Given the description of an element on the screen output the (x, y) to click on. 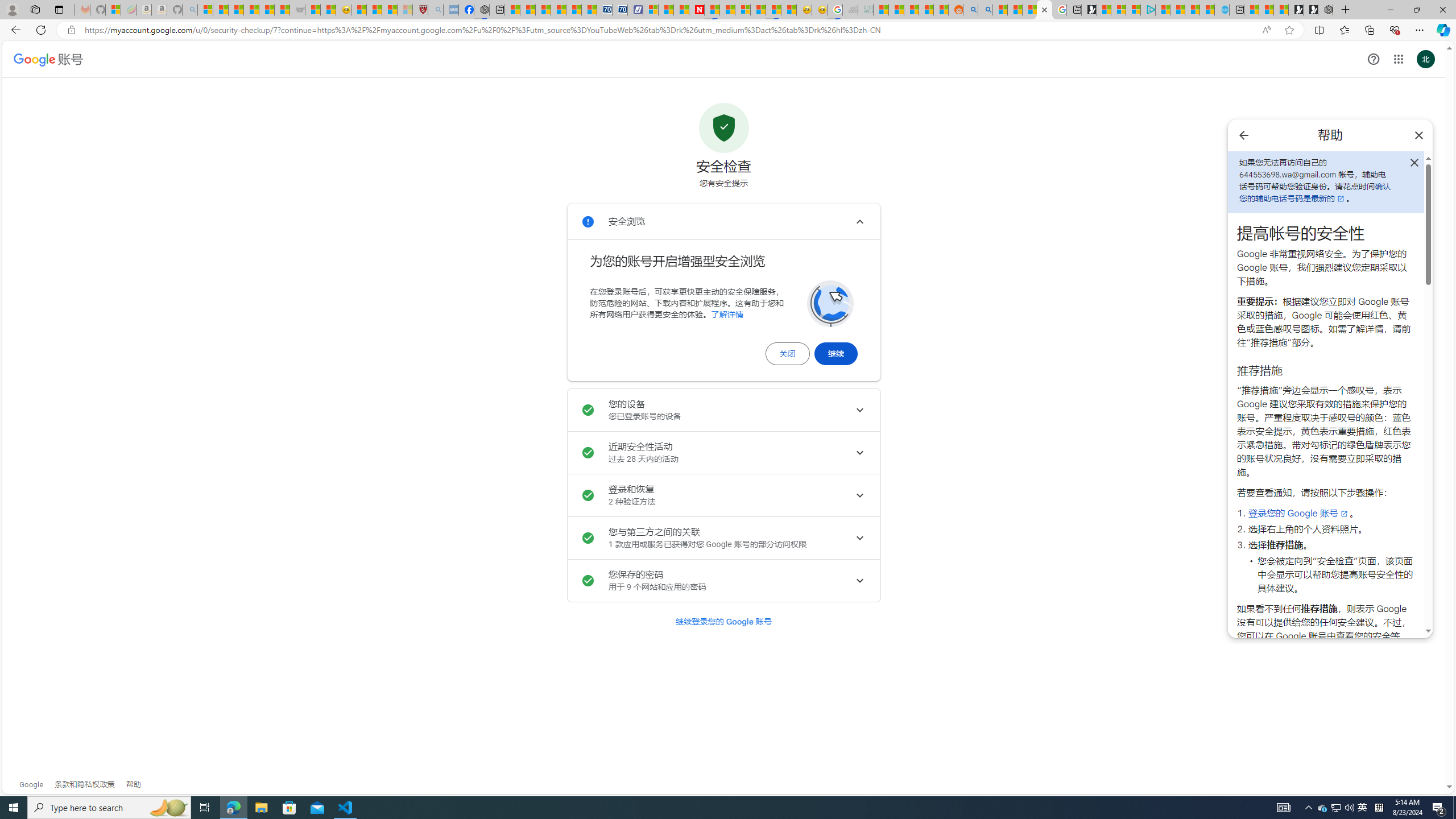
Recipes - MSN (358, 9)
